Given the description of an element on the screen output the (x, y) to click on. 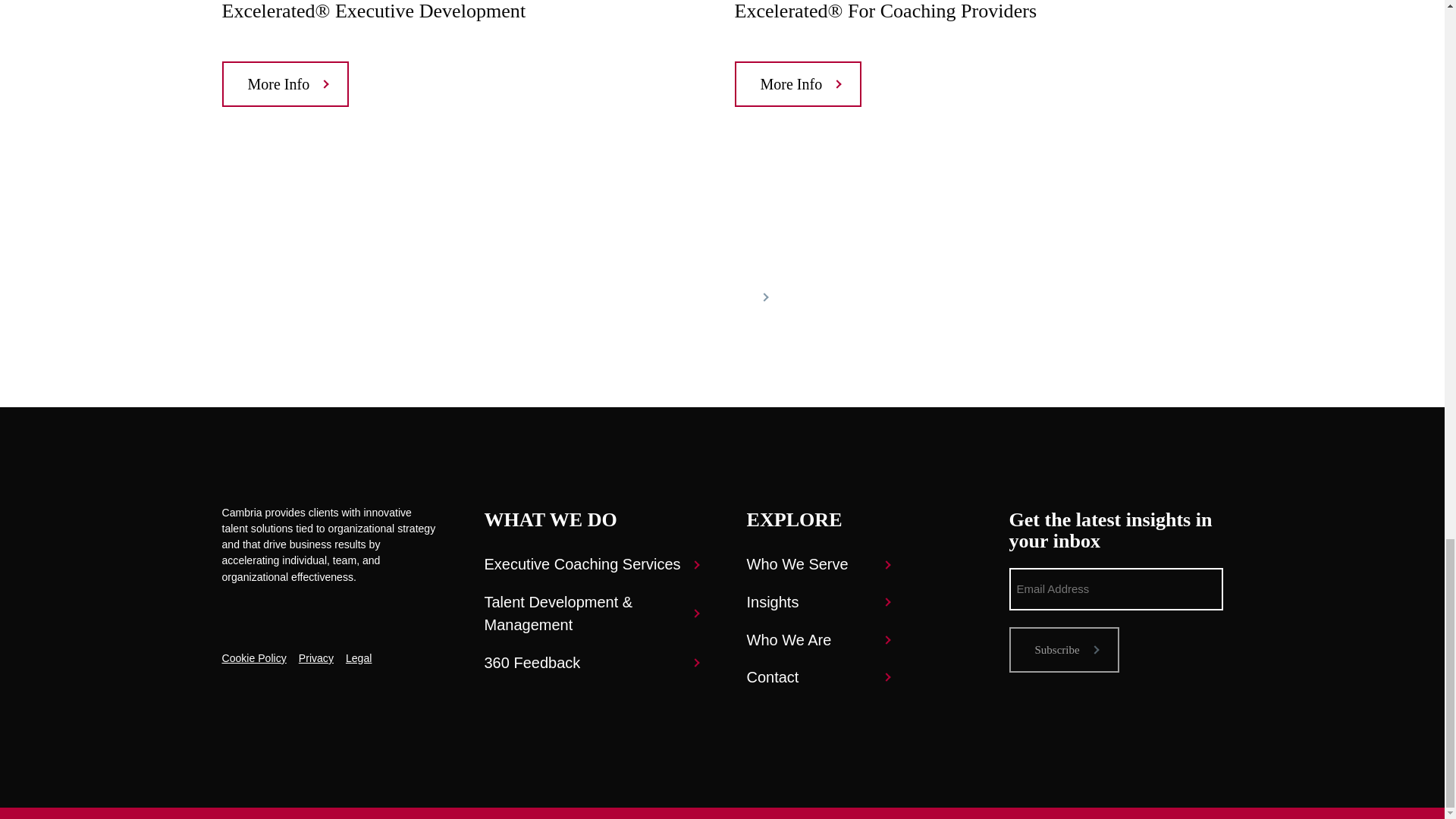
More Info (797, 84)
Cookie Policy (253, 658)
Contact Us (722, 297)
More Info (285, 84)
Subscribe (1063, 649)
Legal (358, 658)
Privacy (315, 658)
